Given the description of an element on the screen output the (x, y) to click on. 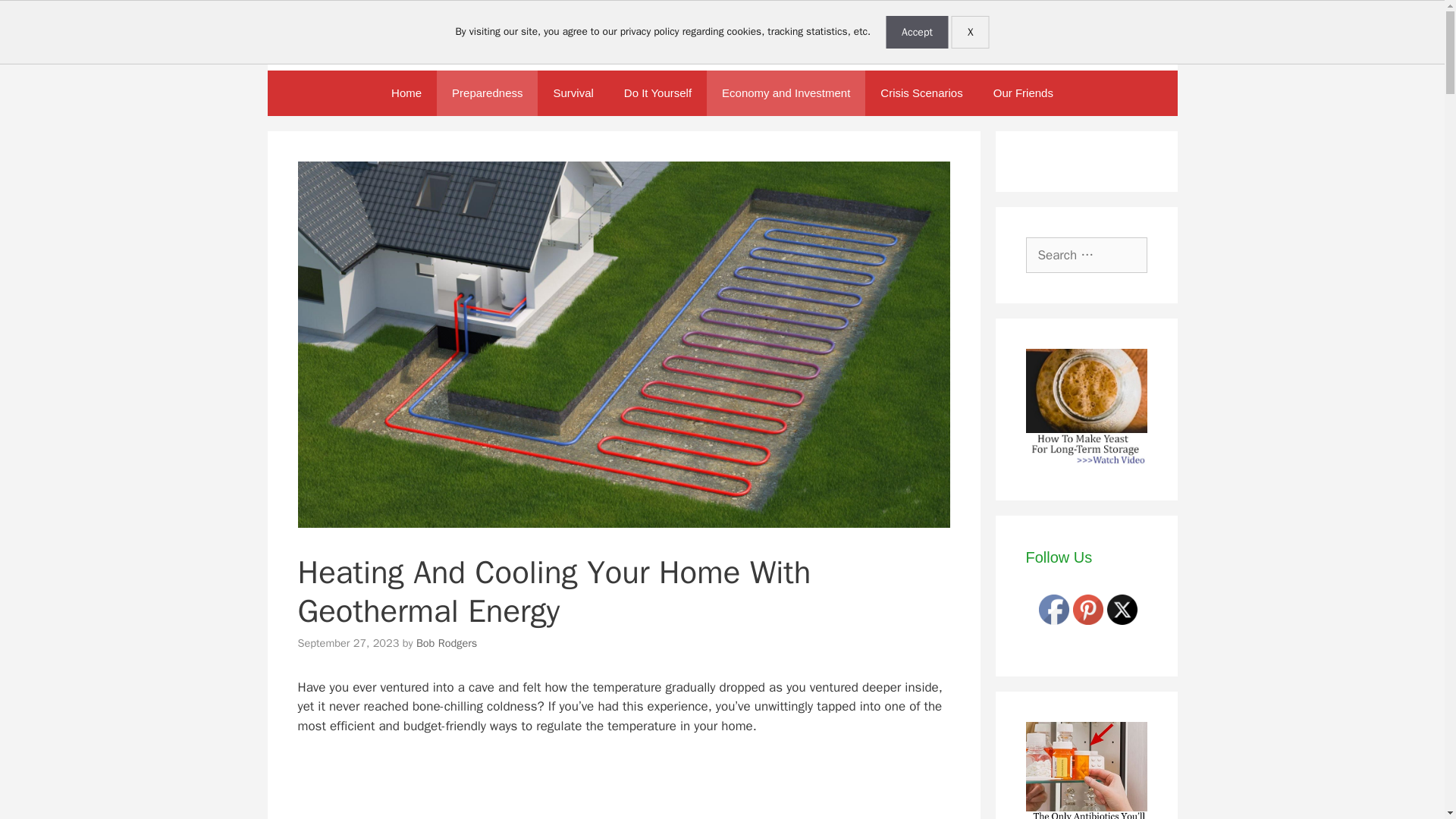
Our Friends (1023, 92)
Accept (917, 31)
Economy and Investment (785, 92)
Preparedness (486, 92)
Advertisement (630, 787)
X (971, 31)
Survival (572, 92)
View all posts by Bob Rodgers (446, 643)
Pinterest (1088, 609)
Do It Yourself (657, 92)
